Given the description of an element on the screen output the (x, y) to click on. 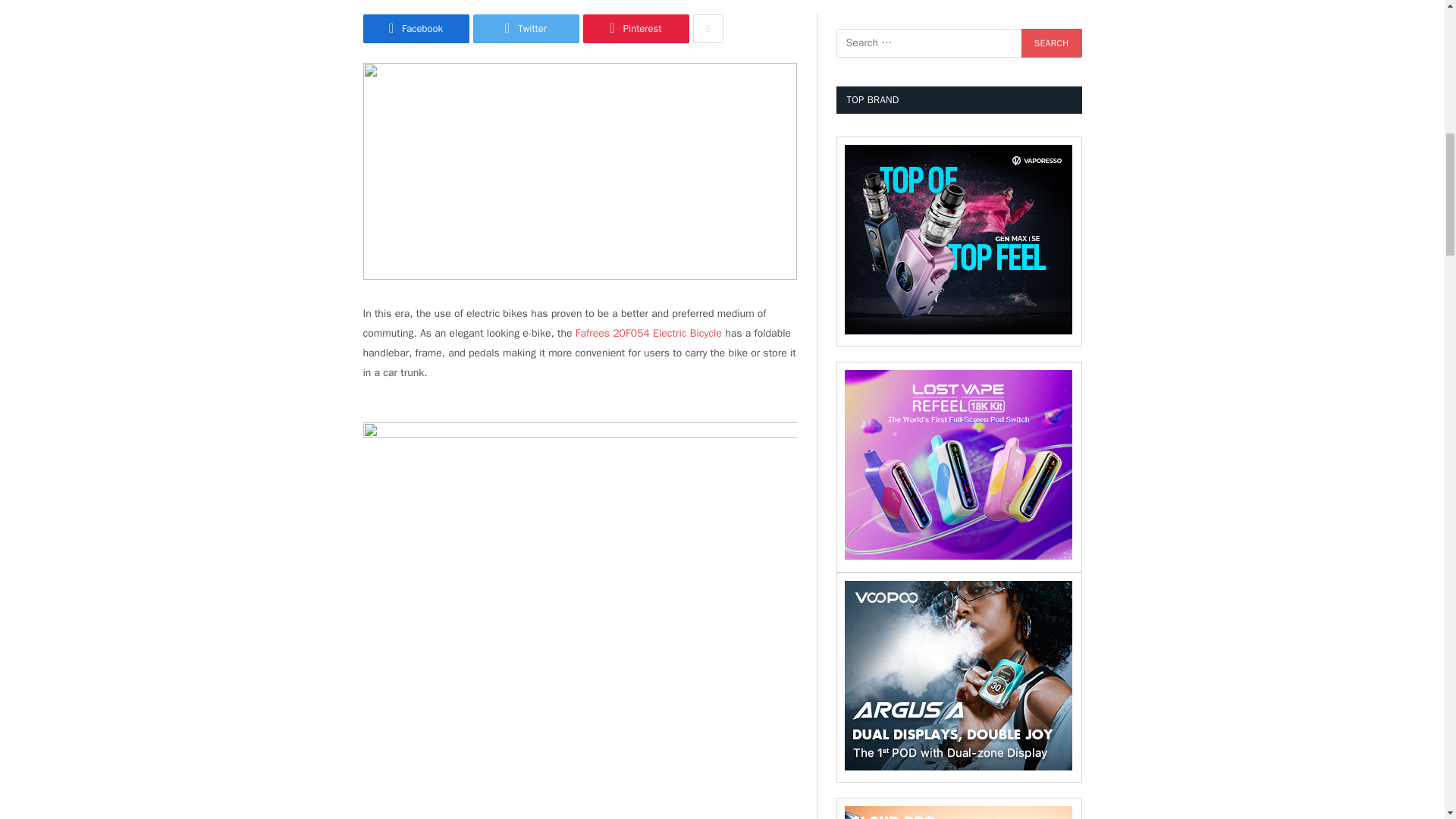
Show More Social Sharing (708, 28)
Share on Pinterest (635, 28)
Search (1051, 42)
Search (1051, 42)
Share on Facebook (415, 28)
Fafrees 20F054 Electric Bicycle Quick Review (579, 171)
Share on Twitter (526, 28)
